Given the description of an element on the screen output the (x, y) to click on. 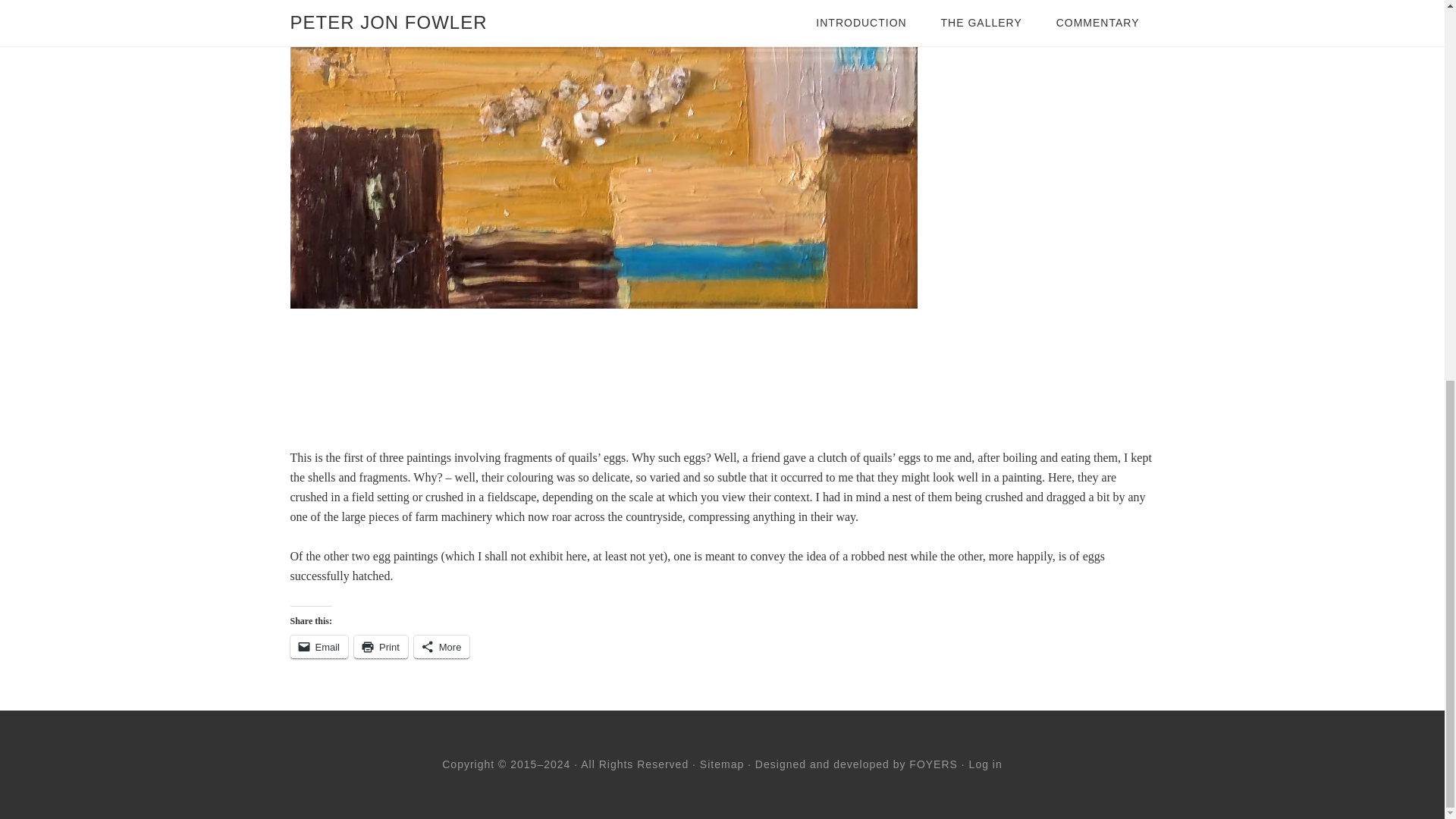
sitemap (722, 764)
Log in (986, 764)
More (441, 647)
Click to email a link to a friend (318, 647)
Email (318, 647)
Sitemap (722, 764)
FOYERS (933, 764)
Print (380, 647)
Click to print (380, 647)
